Given the description of an element on the screen output the (x, y) to click on. 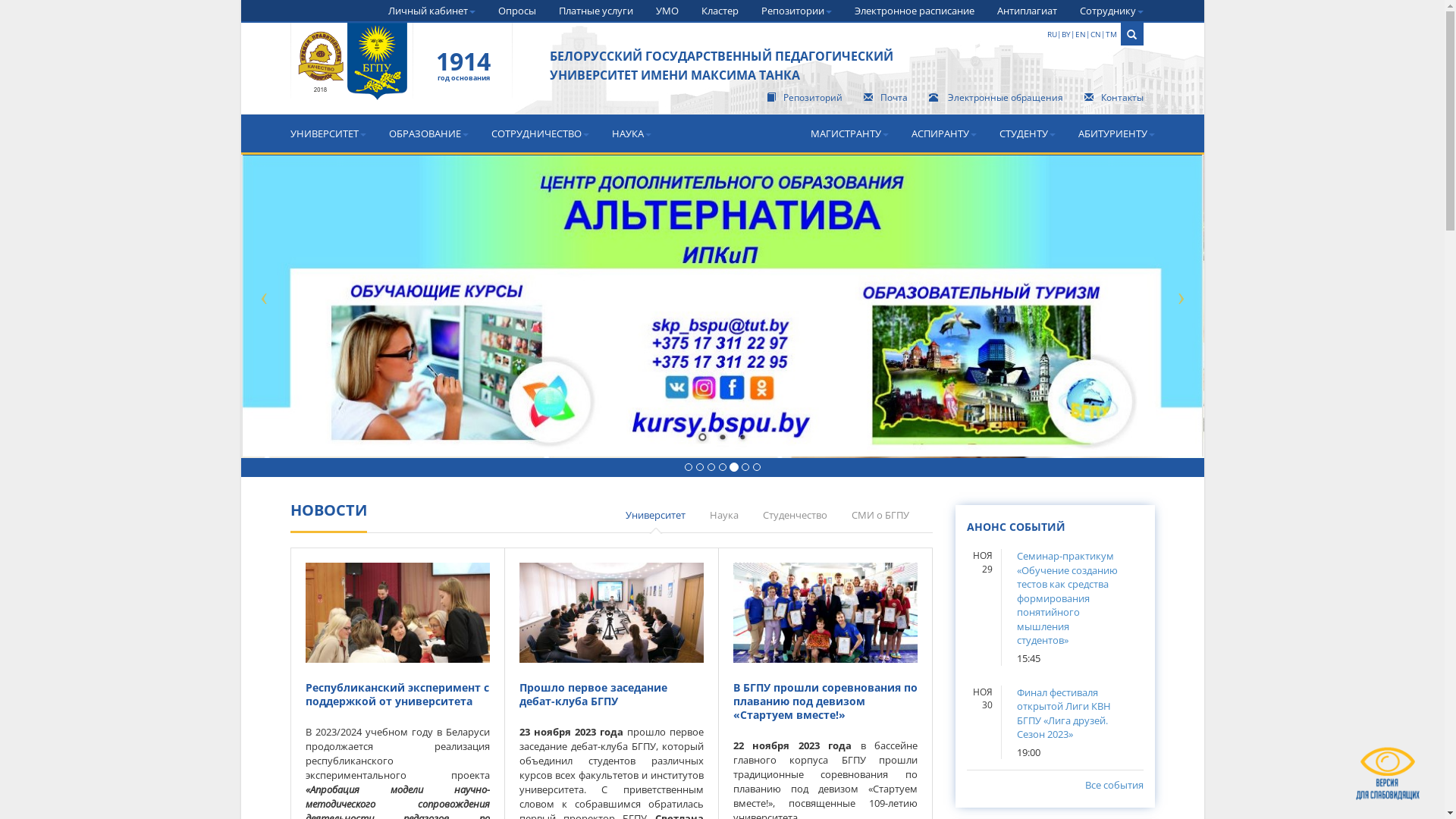
BY Element type: text (1065, 33)
TM Element type: text (1111, 33)
CN Element type: text (1095, 33)
EN Element type: text (1080, 33)
  Element type: text (351, 72)
RU Element type: text (1051, 33)
